Given the description of an element on the screen output the (x, y) to click on. 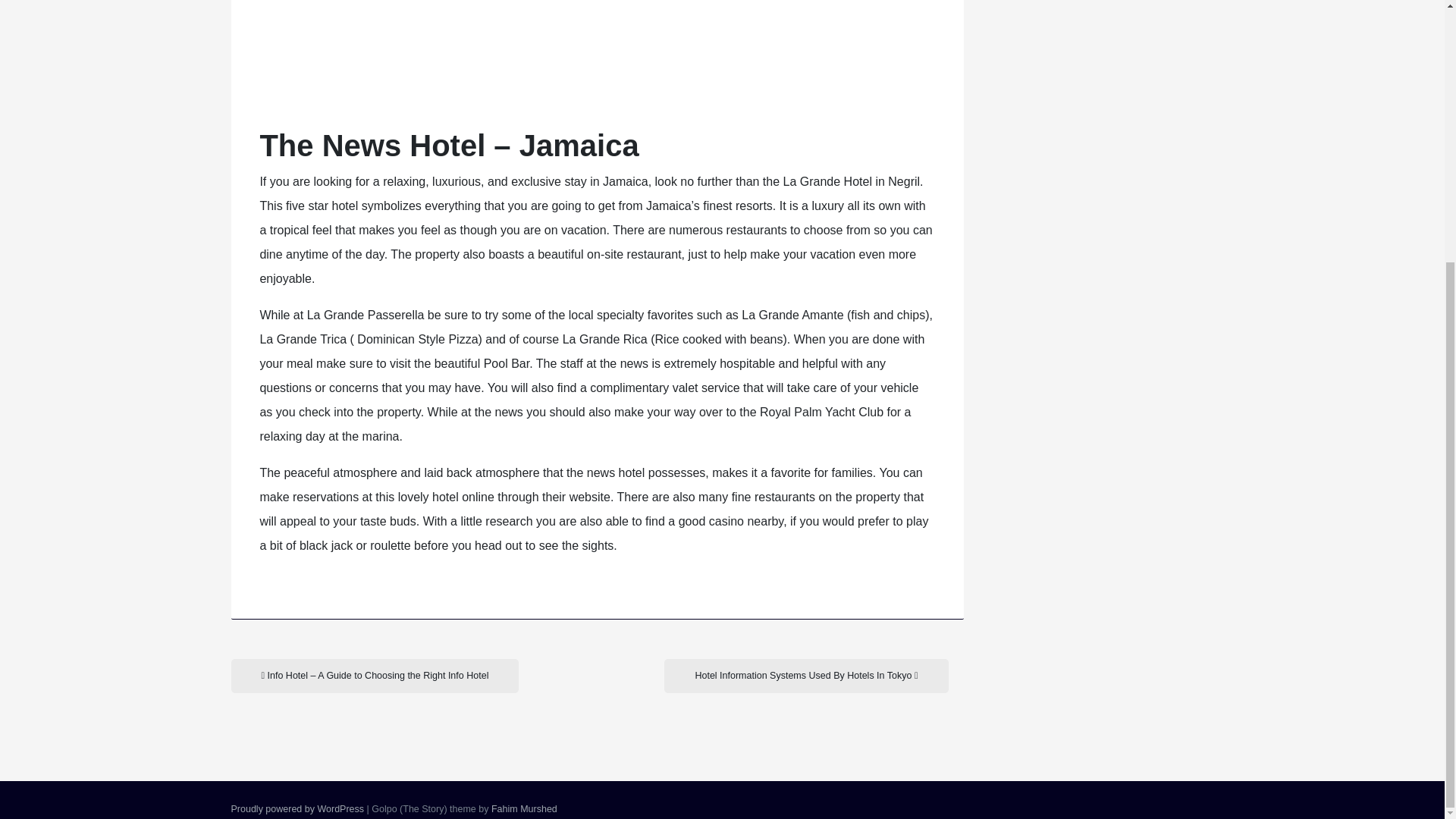
Hotel Information Systems Used By Hotels In Tokyo (805, 675)
Proudly powered by WordPress (297, 808)
Fahim Murshed (524, 808)
